Given the description of an element on the screen output the (x, y) to click on. 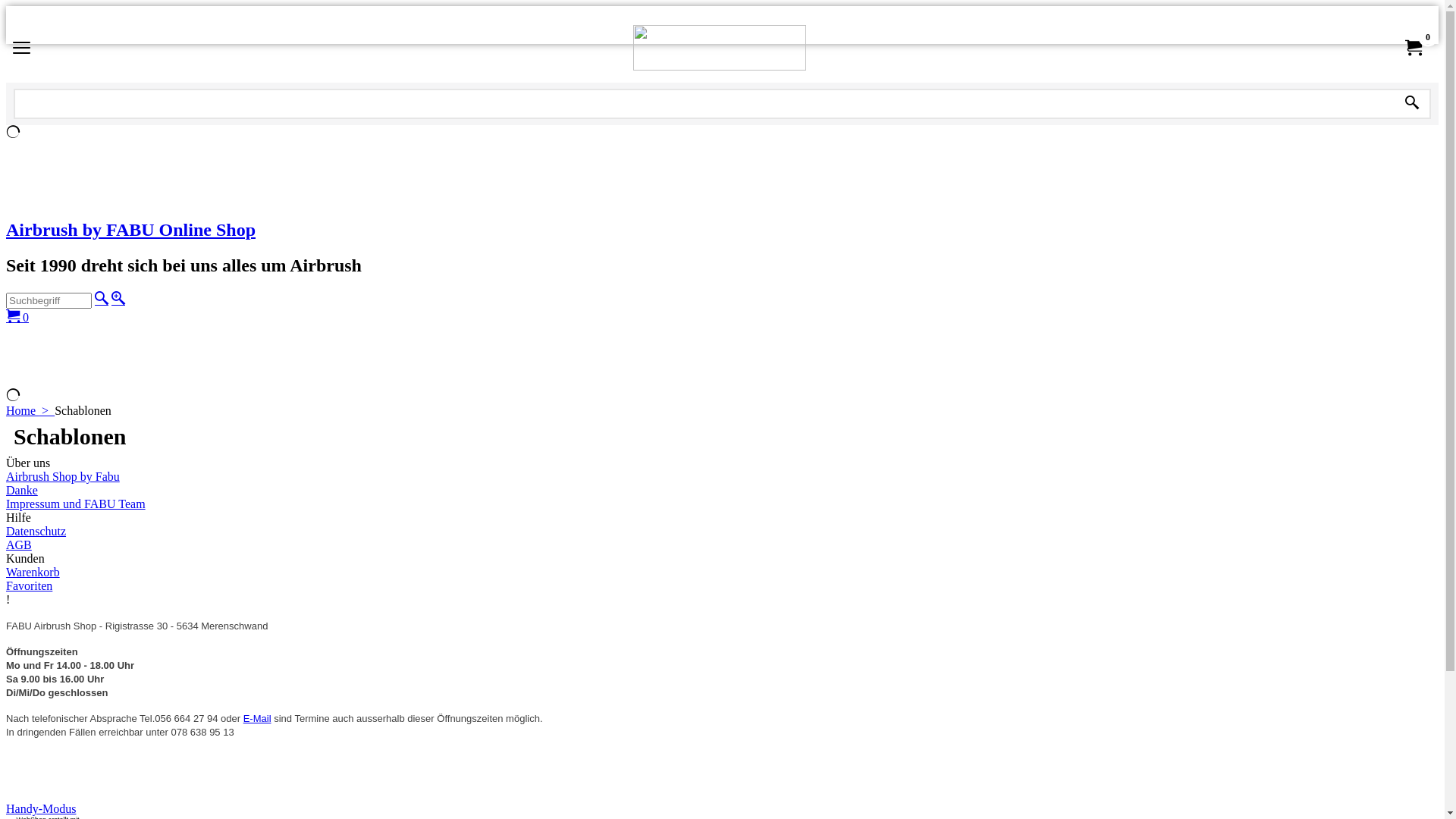
Favoriten Element type: text (722, 586)
Danke Element type: text (722, 490)
Hilfe Element type: text (722, 517)
Impressum und FABU Team Element type: text (722, 504)
Home  >  Element type: text (30, 410)
Handy-Modus Element type: text (40, 808)
0 Element type: text (17, 316)
E-Mail Element type: text (257, 718)
Datenschutz Element type: text (722, 531)
Warenkorb Element type: text (722, 572)
Kunden Element type: text (722, 558)
Menu Element type: hover (21, 49)
  Element type: text (1411, 102)
Airbrush Shop by Fabu Element type: text (722, 476)
AGB Element type: text (722, 545)
Erweiterte Suche Element type: hover (118, 297)
Airbrush by FABU Online Shop Element type: text (722, 229)
Suche Element type: hover (101, 297)
0 Element type: text (1412, 46)
Suche Element type: hover (1411, 102)
